Given the description of an element on the screen output the (x, y) to click on. 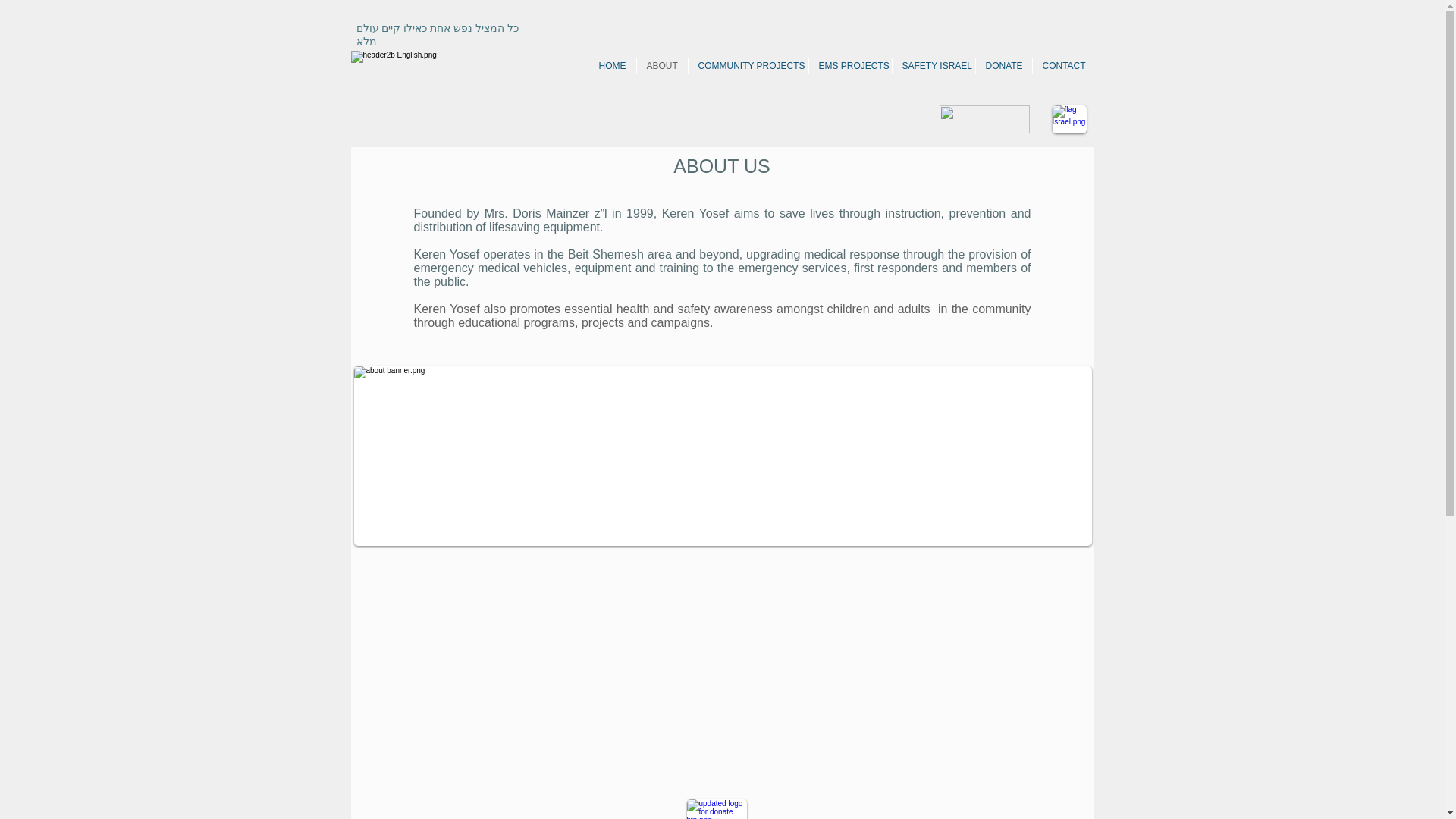
EMS PROJECTS (849, 66)
COMMUNITY PROJECTS (748, 66)
ABOUT (662, 66)
safety Israel English side transparent.p (984, 119)
HOME (611, 66)
